Given the description of an element on the screen output the (x, y) to click on. 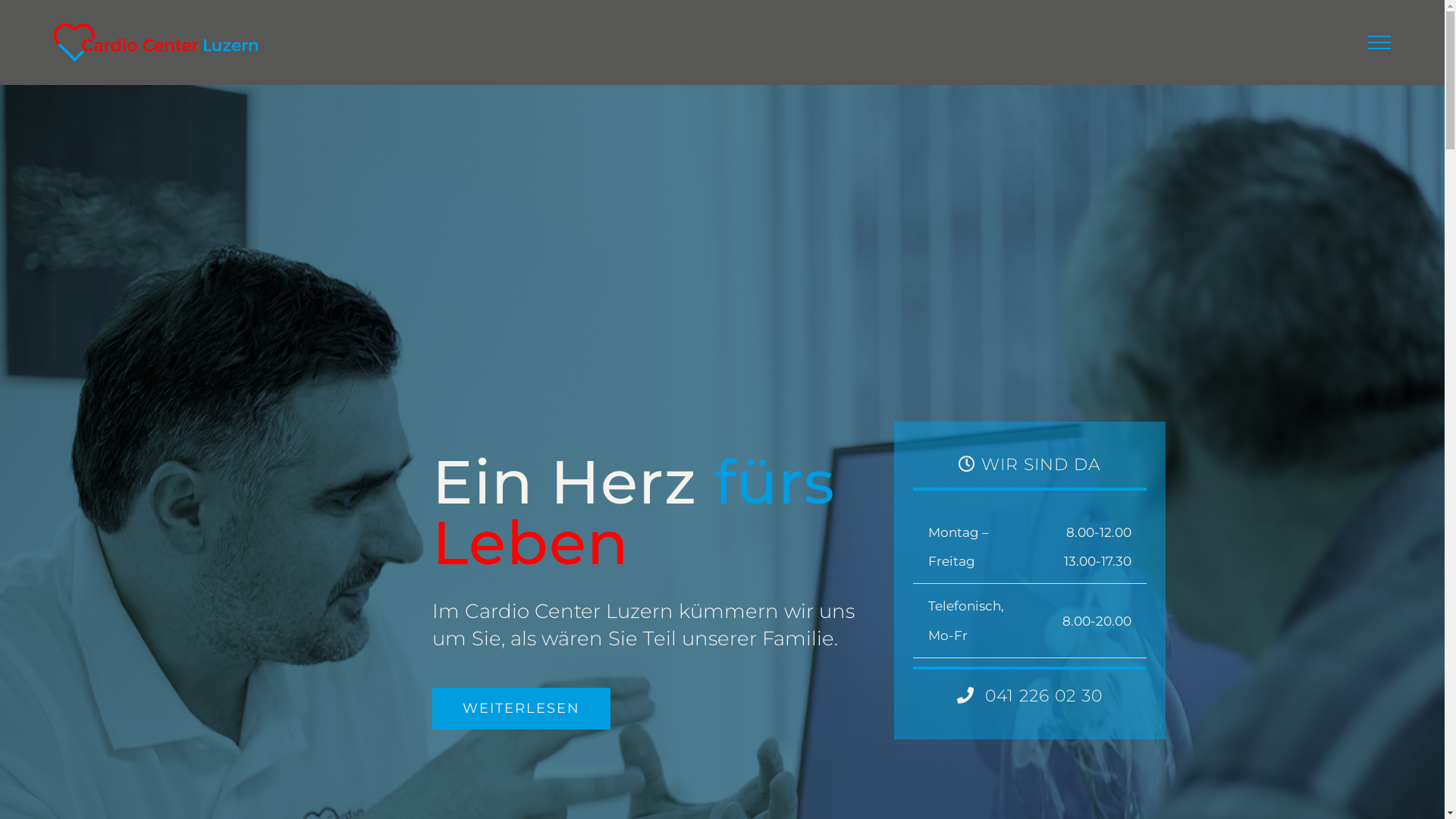
WEITERLESEN Element type: text (521, 708)
